Given the description of an element on the screen output the (x, y) to click on. 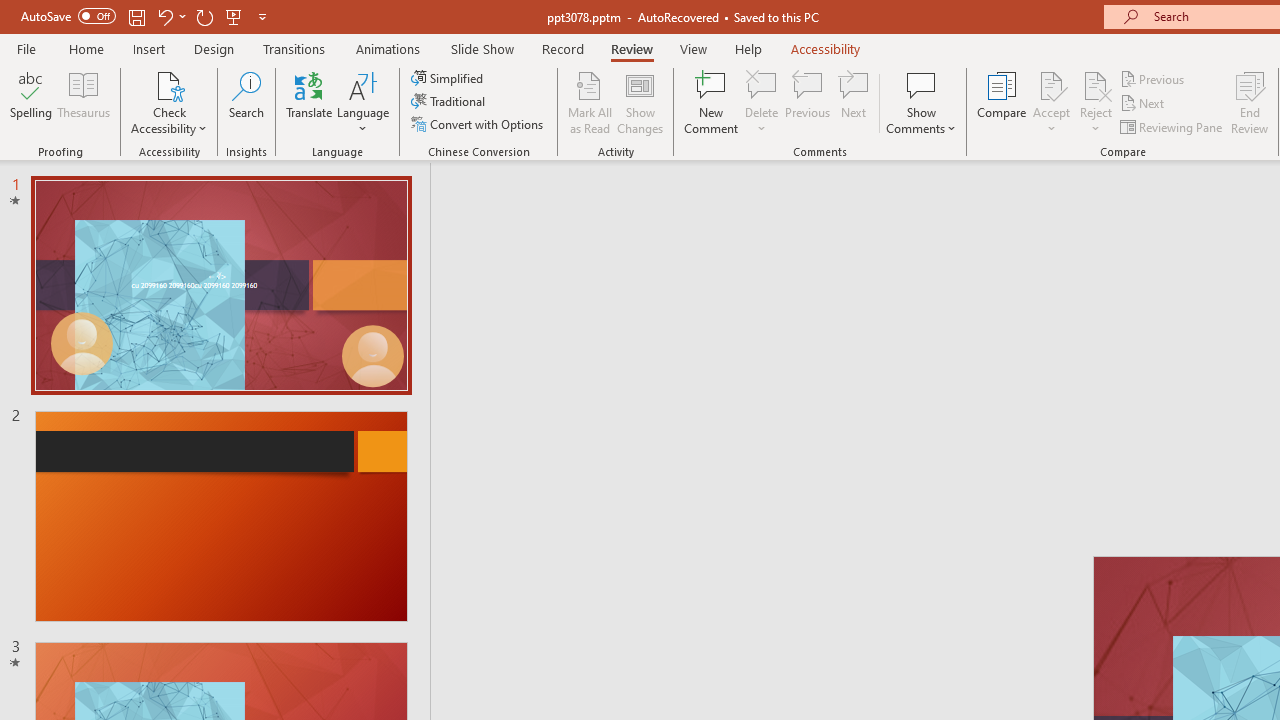
Mark All as Read (589, 102)
Simplified (449, 78)
Next (1144, 103)
Accept Change (1051, 84)
Compare (1002, 102)
New Comment (711, 102)
